Given the description of an element on the screen output the (x, y) to click on. 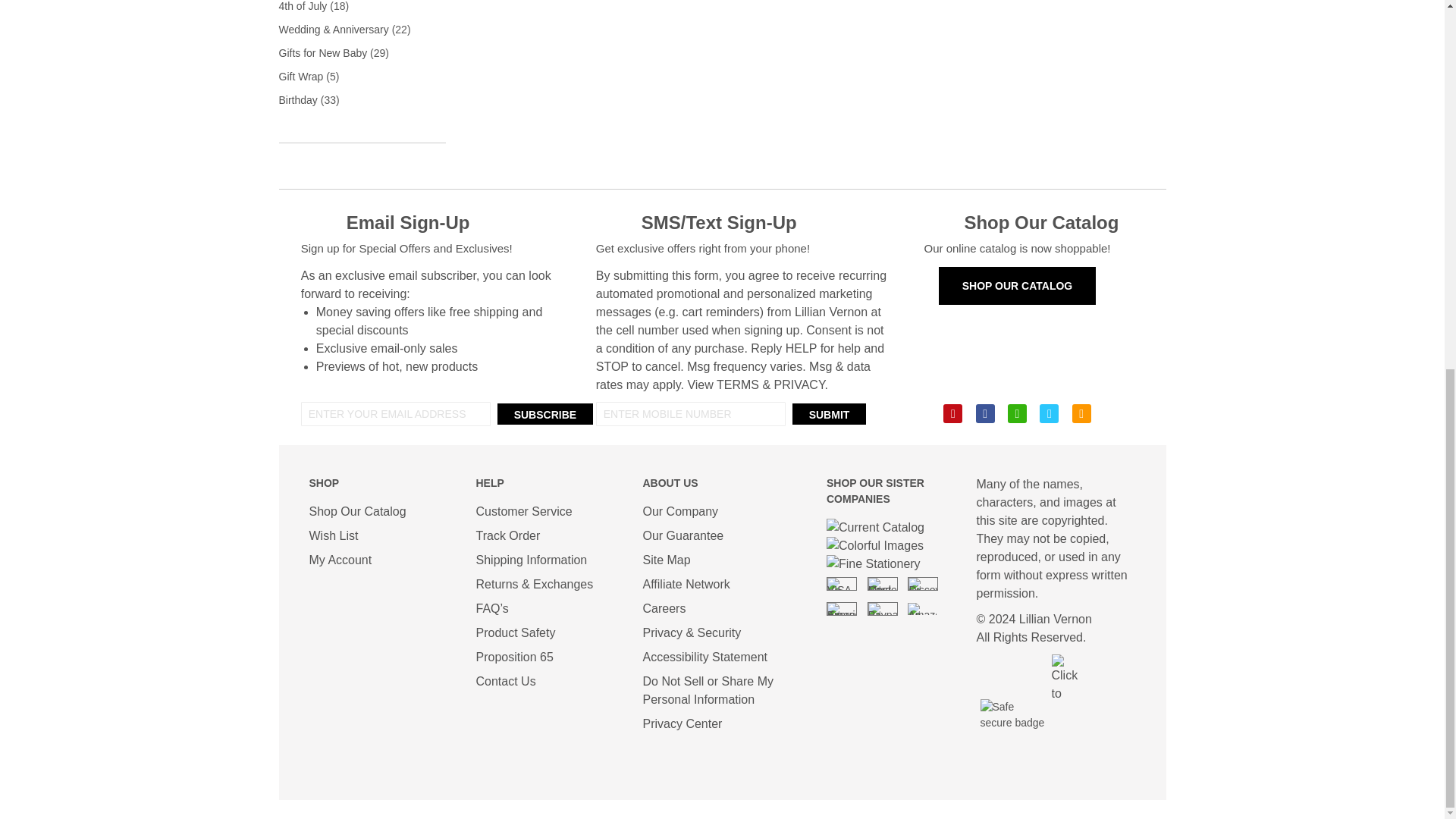
Submit (829, 413)
pinterest (952, 413)
Subscribe (544, 413)
